Given the description of an element on the screen output the (x, y) to click on. 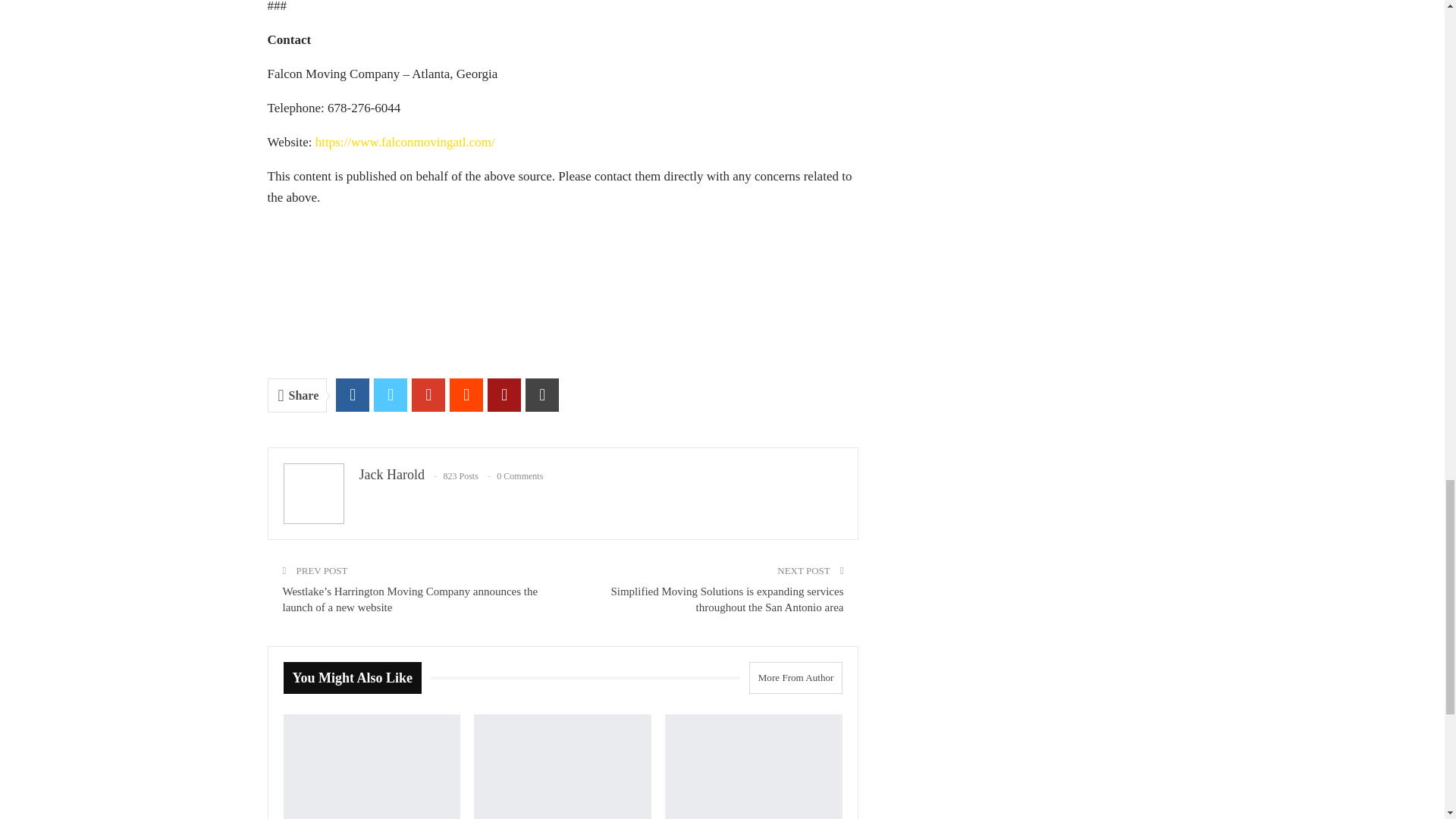
Your Rights As a Title IX Lawyer (372, 766)
How to Use and Climbing With An Ice Axe (562, 766)
Title IX Lawyers Protect Students Against Sex Discrimination (754, 766)
